Given the description of an element on the screen output the (x, y) to click on. 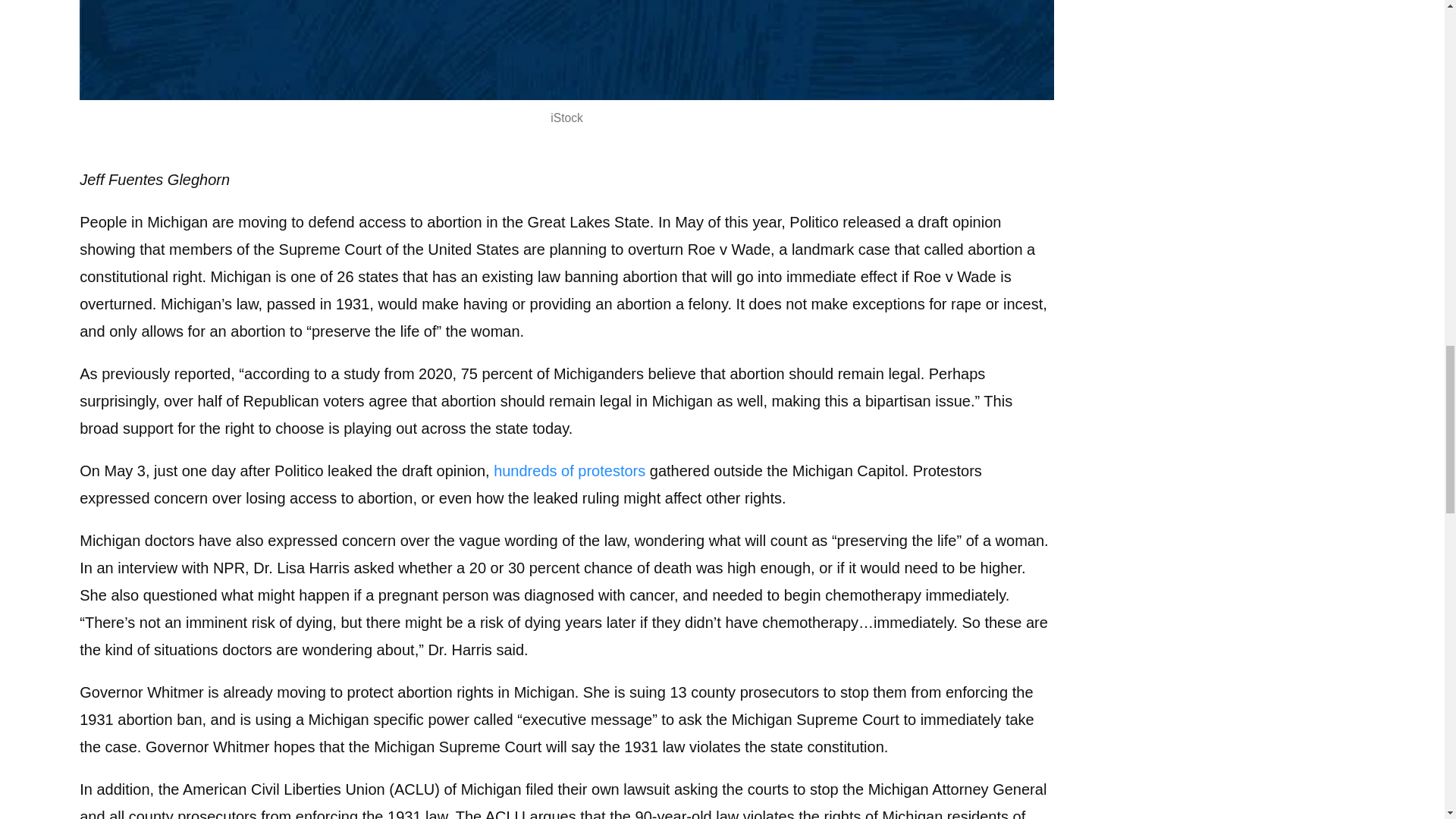
hundreds of protestors (569, 470)
